Given the description of an element on the screen output the (x, y) to click on. 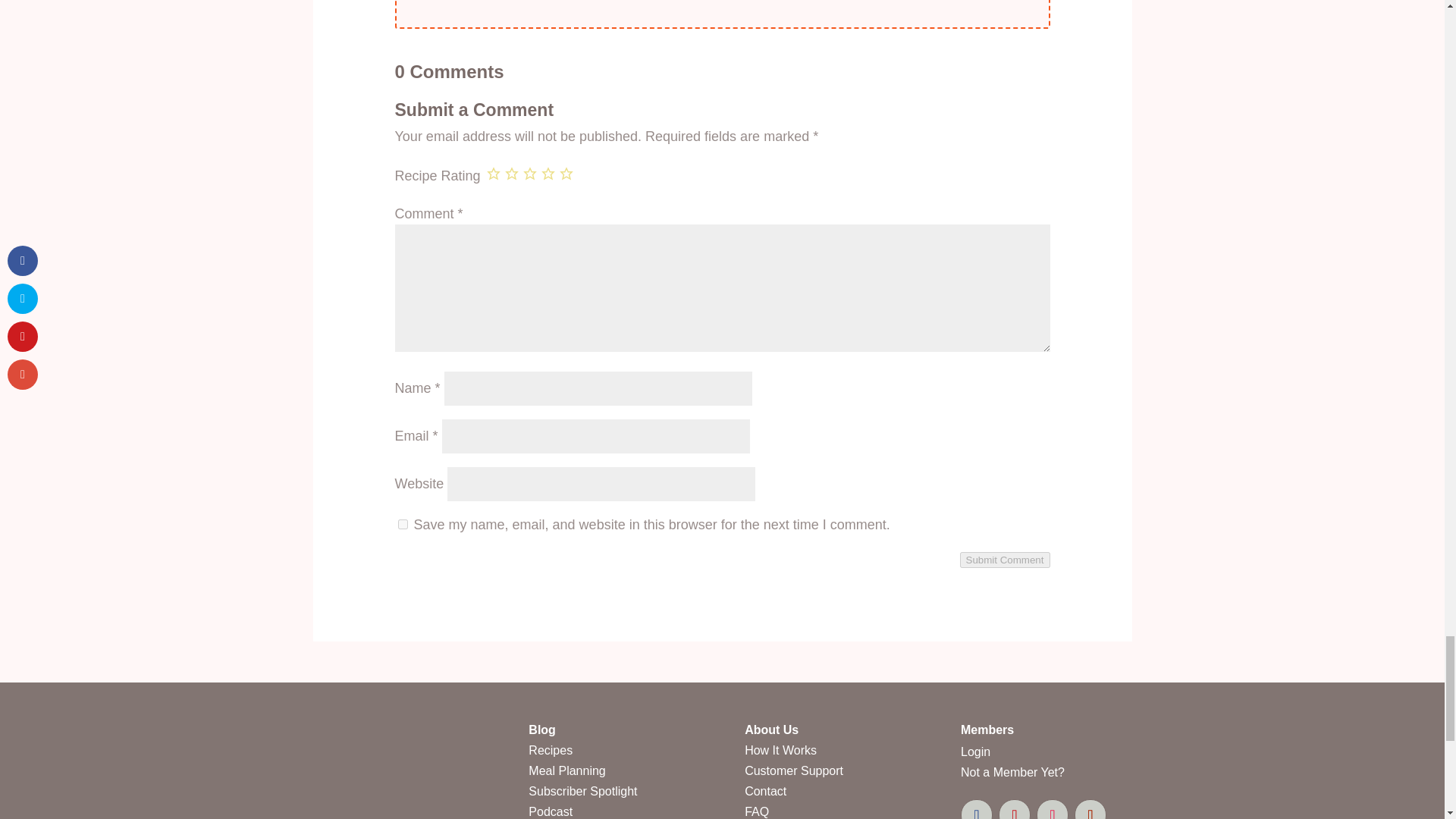
Follow on Instagram (1052, 809)
Follow on Facebook (976, 809)
Follow on Youtube (1090, 809)
Recipes (550, 749)
Prep Dish Meal Prep Made Easy (350, 801)
Subscriber Spotlight (582, 790)
Blog (542, 729)
yes (402, 524)
Follow on Pinterest (1014, 809)
Meal Planning (566, 770)
Submit Comment (1004, 560)
